Given the description of an element on the screen output the (x, y) to click on. 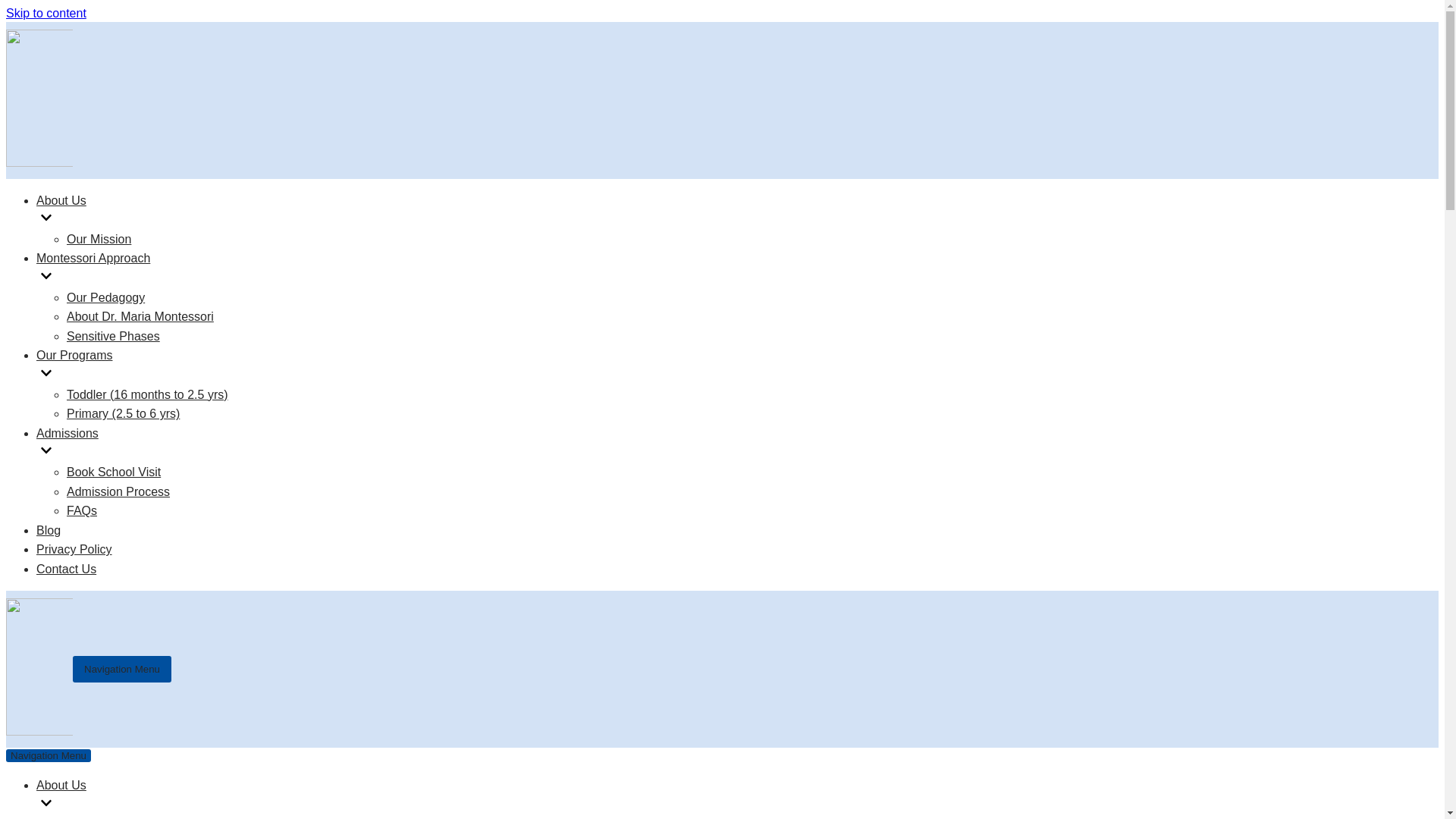
Our Mission (98, 238)
Sensitive Phases (113, 336)
Admissions (132, 444)
Navigation Menu (47, 755)
Montessori Approach (132, 269)
Our Programs (132, 366)
Skip to content (45, 12)
About Us (149, 796)
Book School Visit (113, 472)
About Dr. Maria Montessori (140, 316)
Navigation Menu (121, 669)
Privacy Policy (74, 549)
Admission Process (118, 491)
Our Mission (98, 818)
FAQs (81, 510)
